Given the description of an element on the screen output the (x, y) to click on. 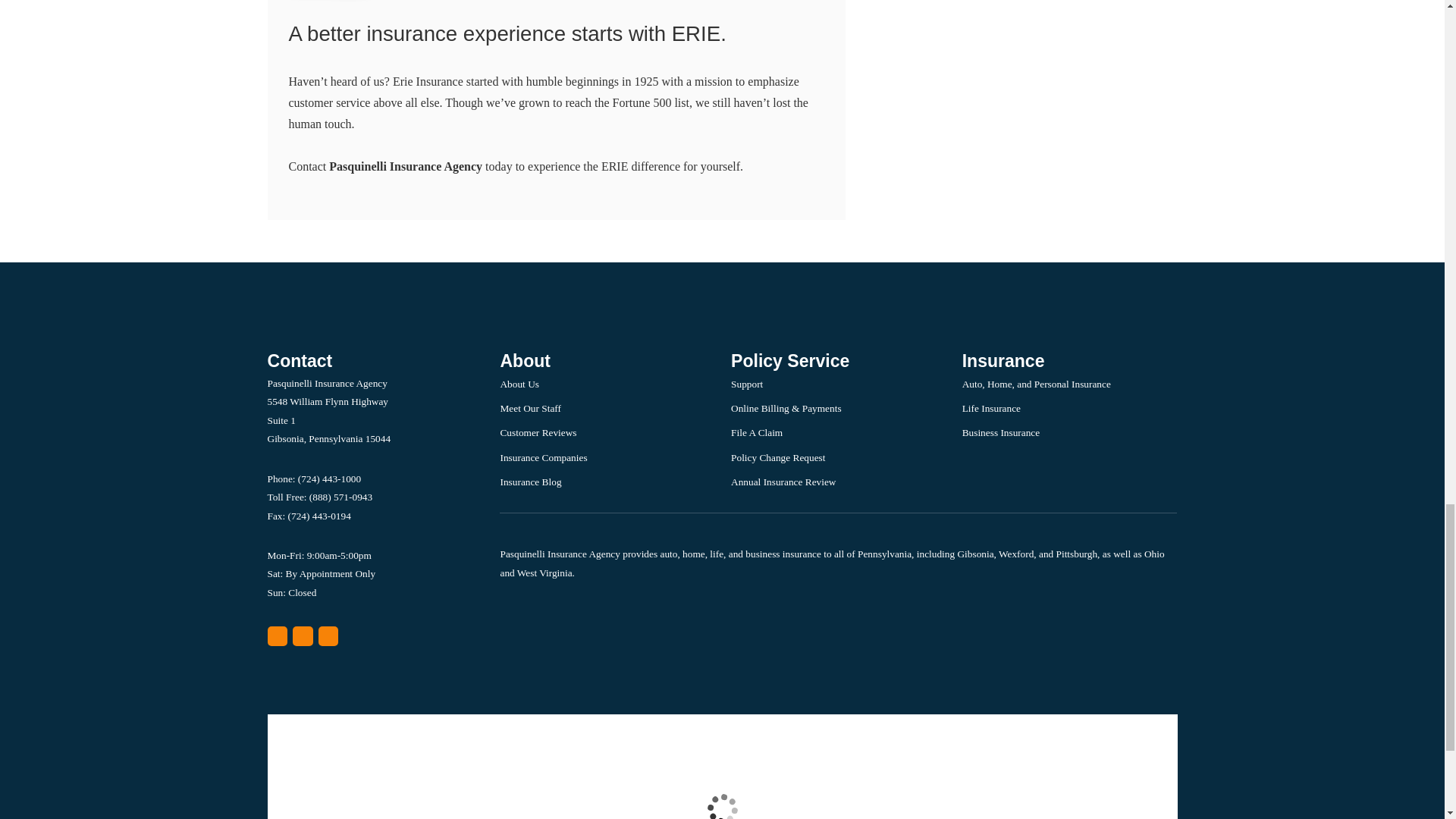
Facebook (328, 636)
Yelp (302, 636)
Google Maps (276, 636)
